Given the description of an element on the screen output the (x, y) to click on. 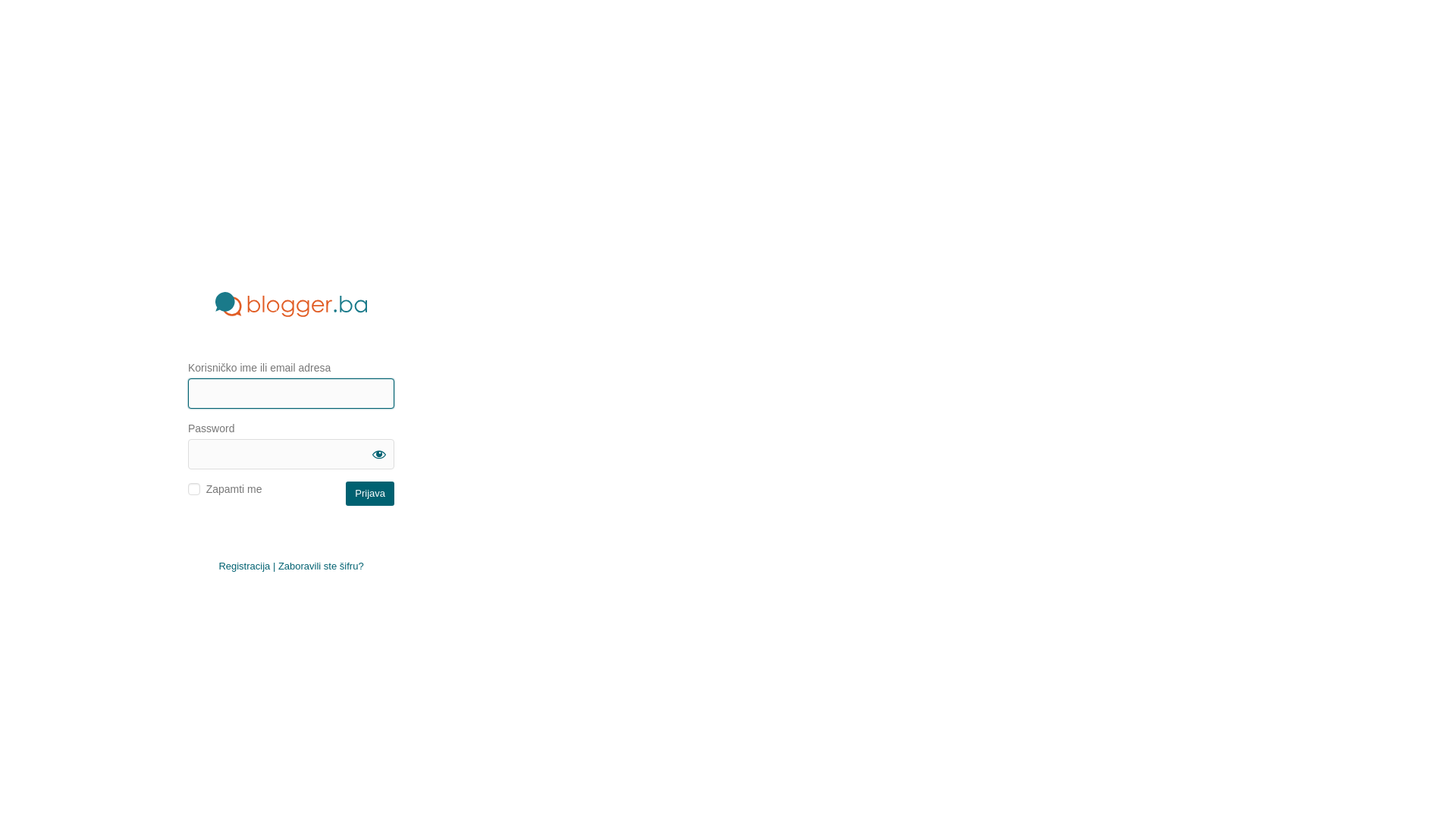
Prijava Element type: text (369, 493)
Registracija Element type: text (243, 565)
